Given the description of an element on the screen output the (x, y) to click on. 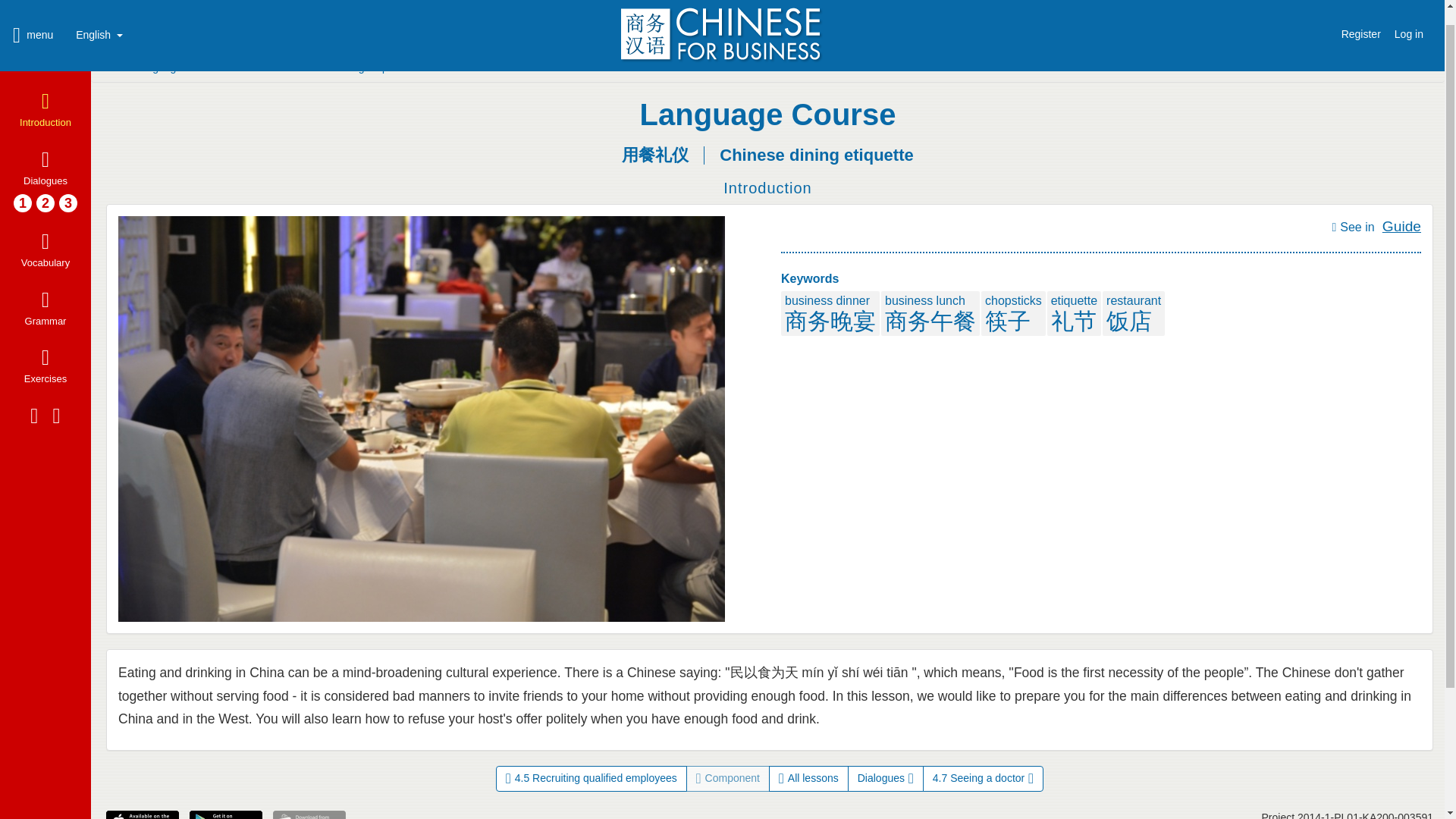
menu (34, 17)
Component (727, 778)
Guide (1401, 226)
1 (22, 185)
4.7 Seeing a doctor (983, 778)
Log in (1408, 12)
Introduction (45, 93)
Language Course (768, 114)
Language Course (177, 67)
All lessons (808, 778)
